Given the description of an element on the screen output the (x, y) to click on. 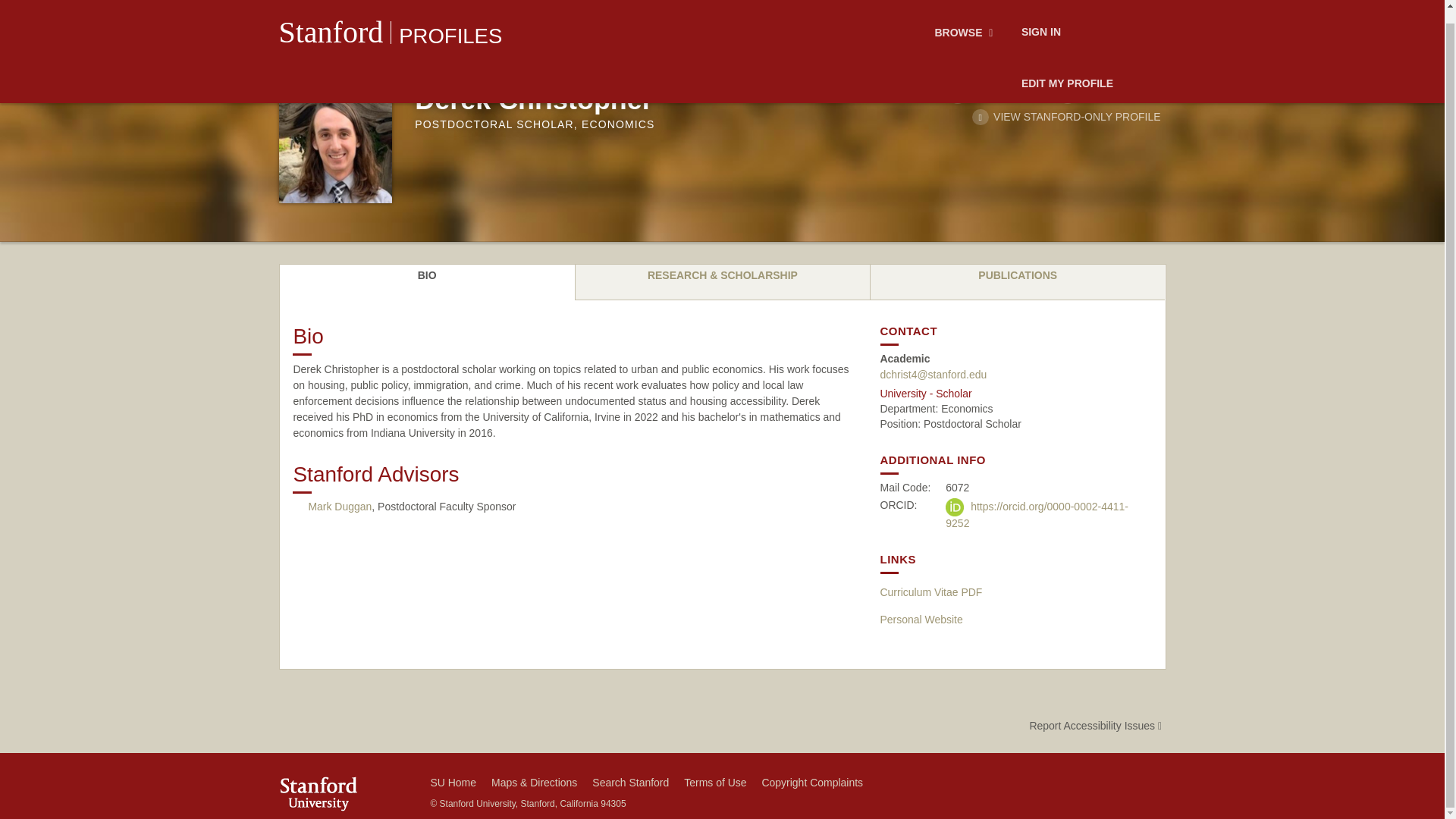
PRINT PROFILE (1000, 94)
Stanford (331, 19)
VIEW STANFORD-ONLY PROFILE (1066, 116)
PROFILES (450, 23)
EDIT MY PROFILE (1067, 71)
BROWSE (966, 19)
EMAIL PROFILE (1109, 94)
SIGN IN (1040, 19)
